Given the description of an element on the screen output the (x, y) to click on. 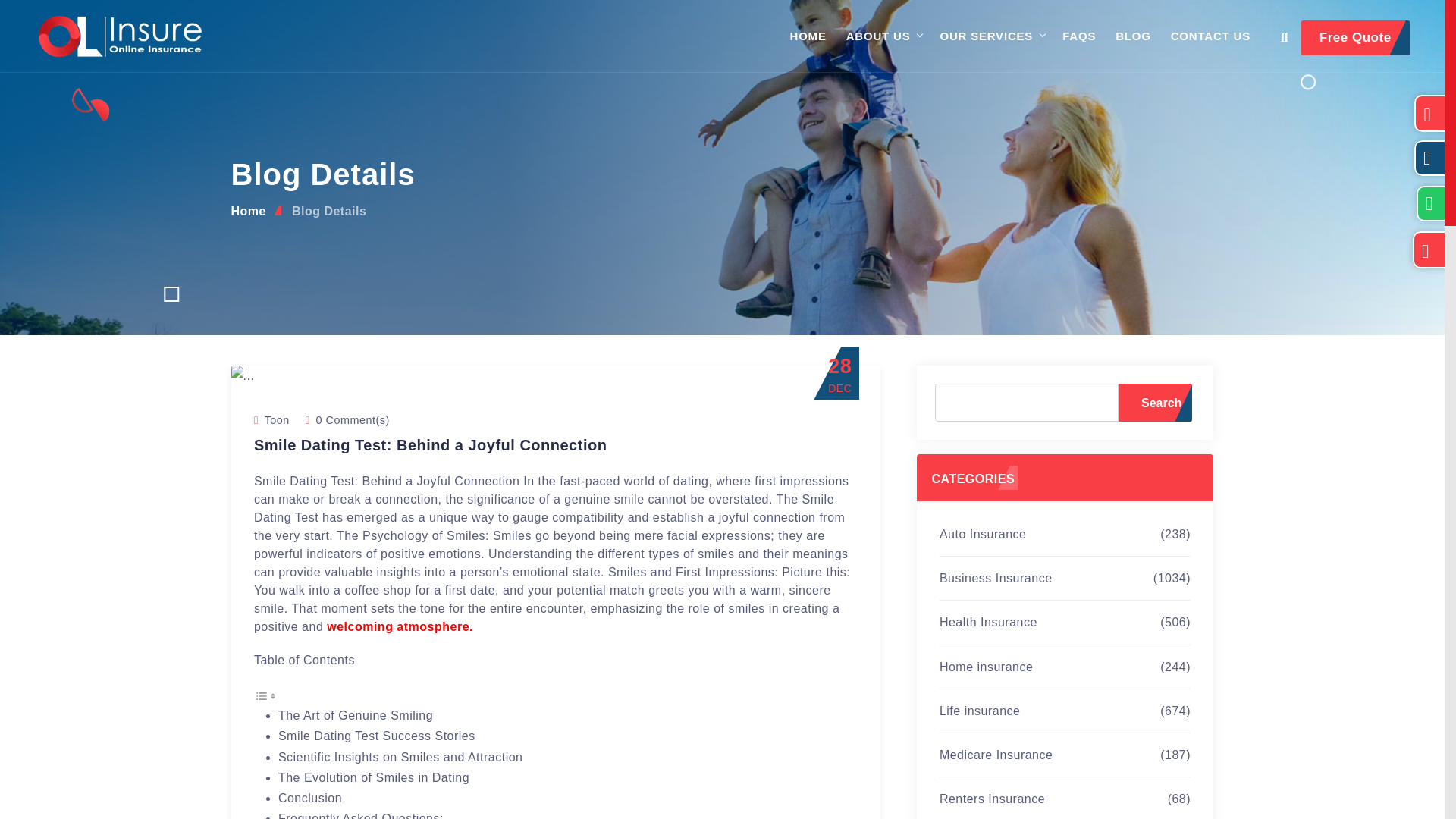
HOME (808, 36)
Posts by toon (276, 419)
OUR SERVICES (986, 36)
Smile Dating Test Success Stories (377, 735)
ABOUT US (878, 36)
Toon (276, 419)
FAQS (1079, 36)
The Evolution of Smiles in Dating (373, 777)
The Art of Genuine Smiling (355, 715)
Frequently Asked Questions: (361, 815)
Smile Dating Test Success Stories (377, 735)
welcoming atmosphere. (399, 626)
Home (247, 210)
Conclusion (310, 797)
Frequently Asked Questions: (361, 815)
